Given the description of an element on the screen output the (x, y) to click on. 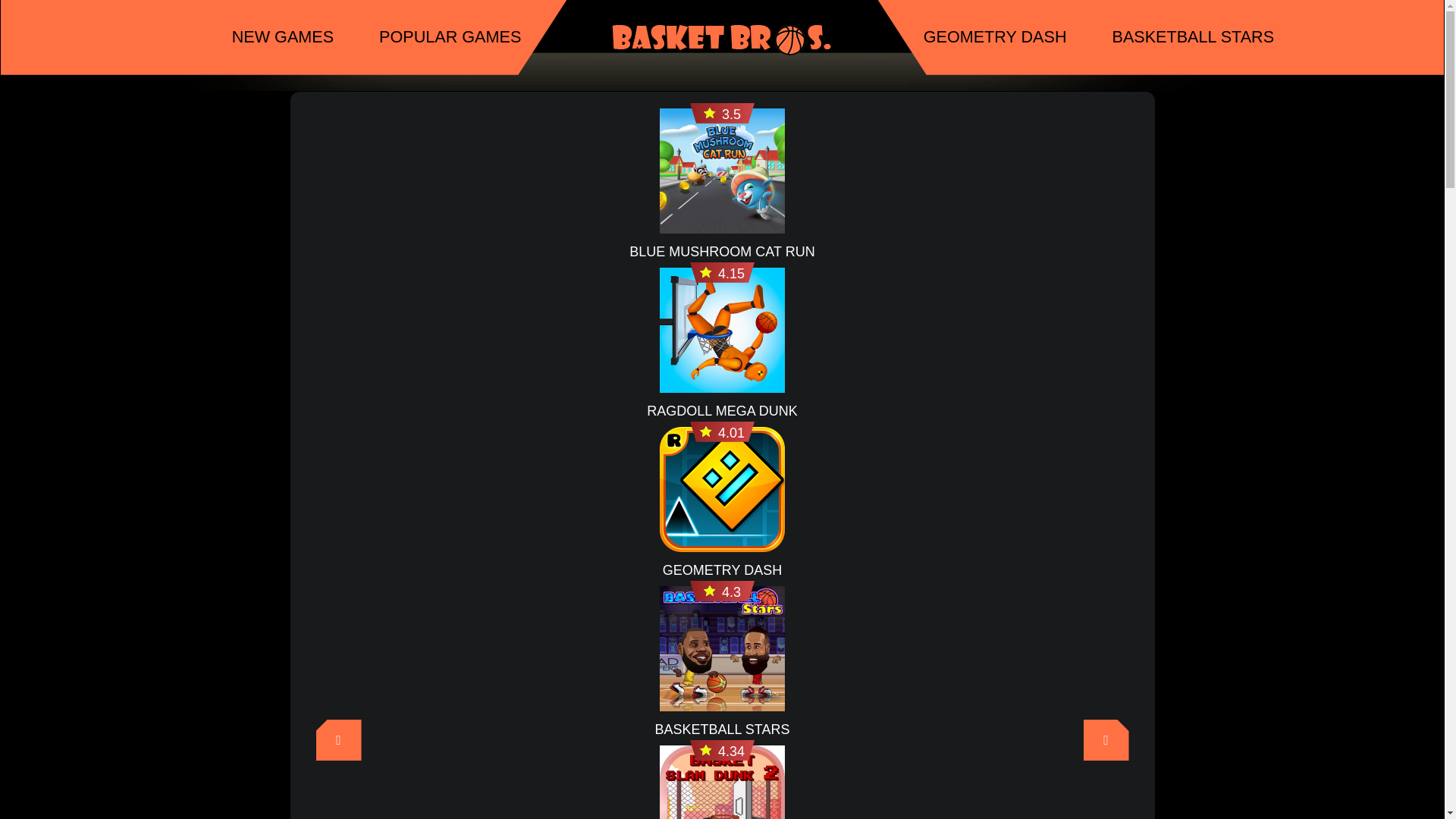
POPULAR GAMES (449, 37)
BASKETBALL STARS (721, 729)
RAGDOLL MEGA DUNK (721, 410)
GEOMETRY DASH (995, 37)
BASKETBALL STARS (1193, 37)
BLUE MUSHROOM CAT RUN (720, 251)
GEOMETRY DASH (721, 569)
NEW GAMES (282, 37)
